Given the description of an element on the screen output the (x, y) to click on. 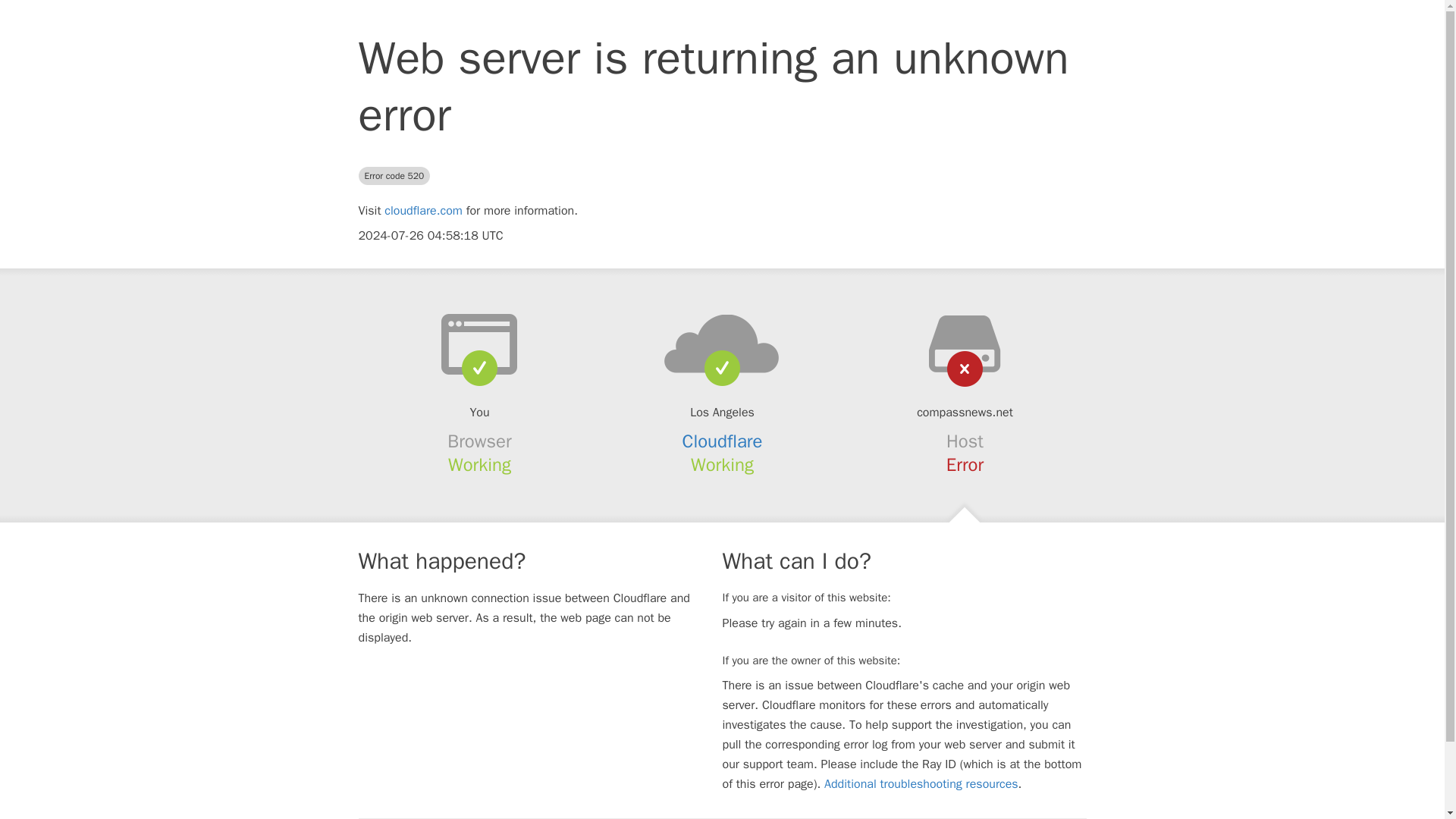
cloudflare.com (423, 210)
Cloudflare (722, 440)
Additional troubleshooting resources (920, 783)
